Given the description of an element on the screen output the (x, y) to click on. 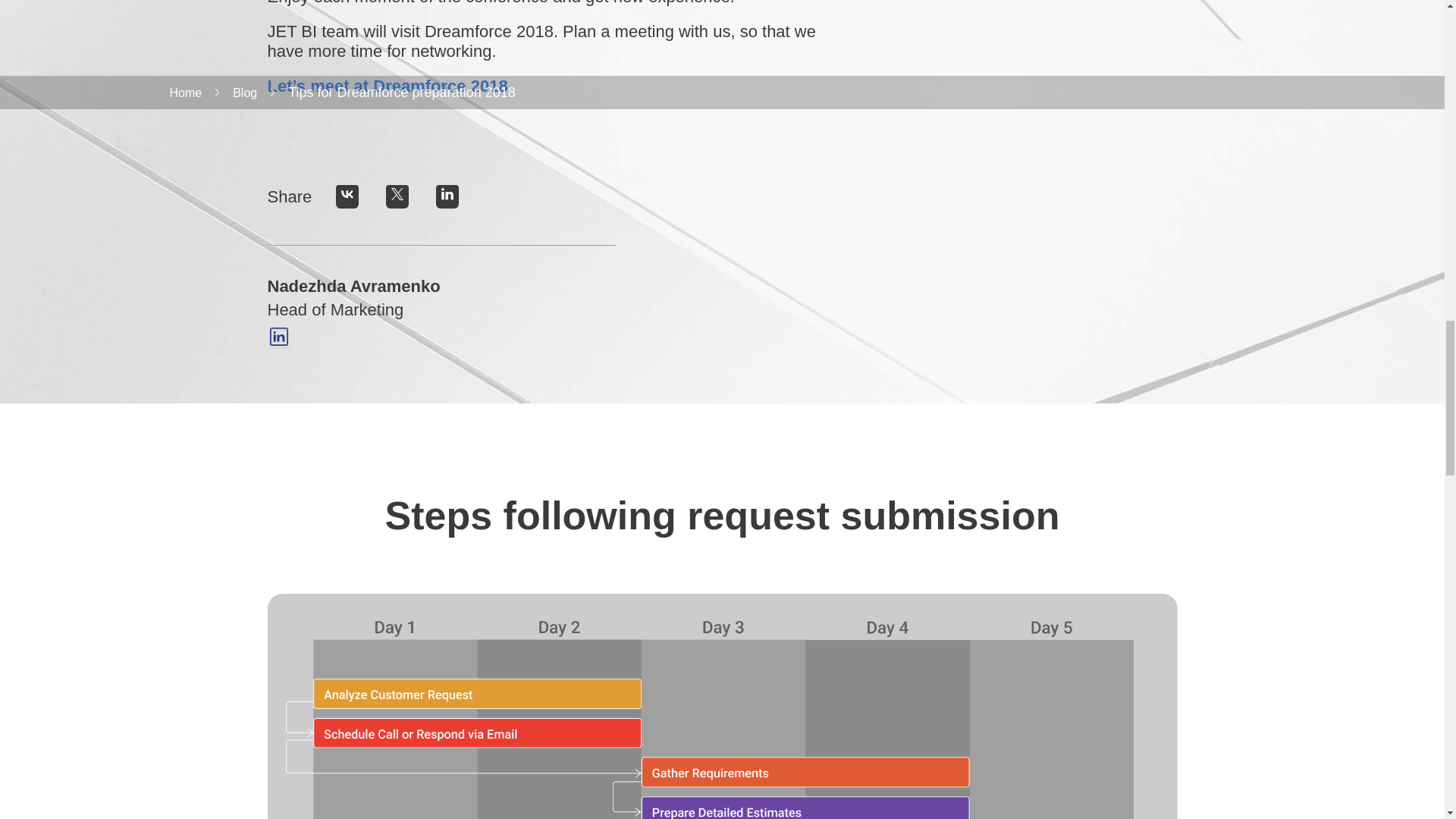
Twitter (397, 197)
LinkedIn (446, 197)
